Given the description of an element on the screen output the (x, y) to click on. 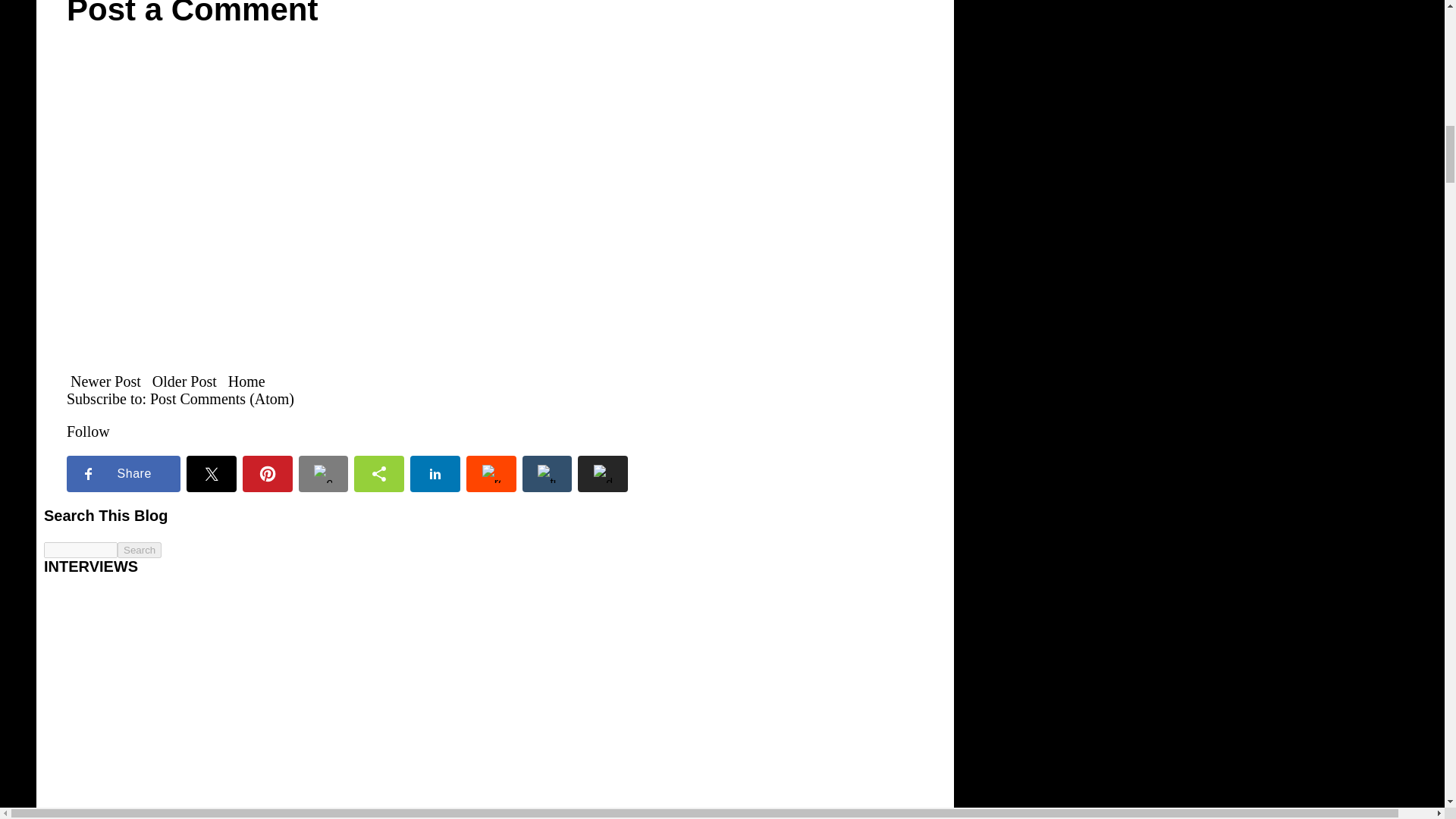
YouTube video player (168, 704)
search (139, 549)
Search (139, 549)
Older Post (184, 381)
Home (246, 381)
Older Post (184, 381)
Newer Post (105, 381)
Newer Post (105, 381)
Search (139, 549)
search (80, 549)
Search (139, 549)
